Given the description of an element on the screen output the (x, y) to click on. 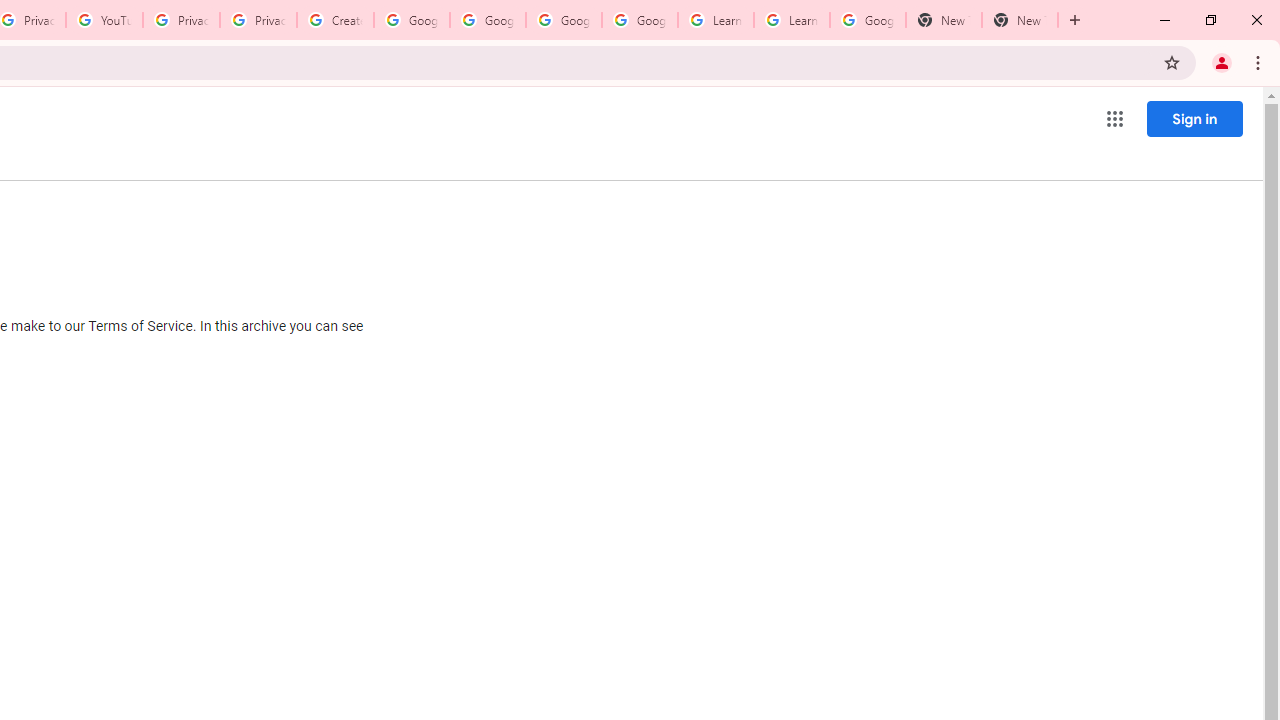
Google Account Help (411, 20)
New Tab (1019, 20)
Google Account Help (639, 20)
New Tab (943, 20)
YouTube (104, 20)
Create your Google Account (335, 20)
Google Account Help (488, 20)
Google Account (867, 20)
